Given the description of an element on the screen output the (x, y) to click on. 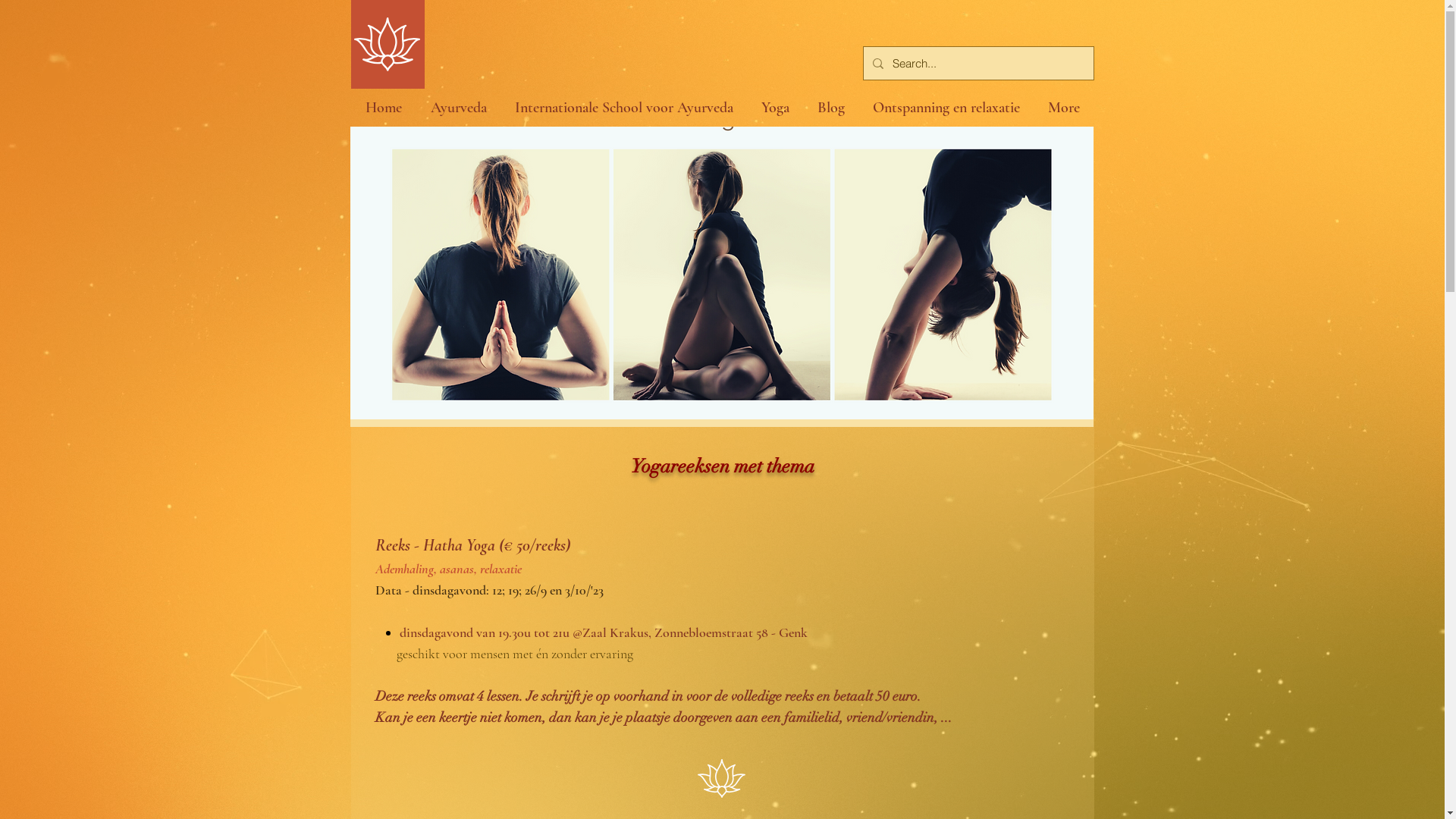
Blog Element type: text (831, 107)
Yoga Class for all Ages Element type: hover (721, 272)
Home Element type: text (382, 107)
Internationale School voor Ayurveda Element type: text (623, 107)
Ontspanning en relaxatie Element type: text (945, 107)
